Given the description of an element on the screen output the (x, y) to click on. 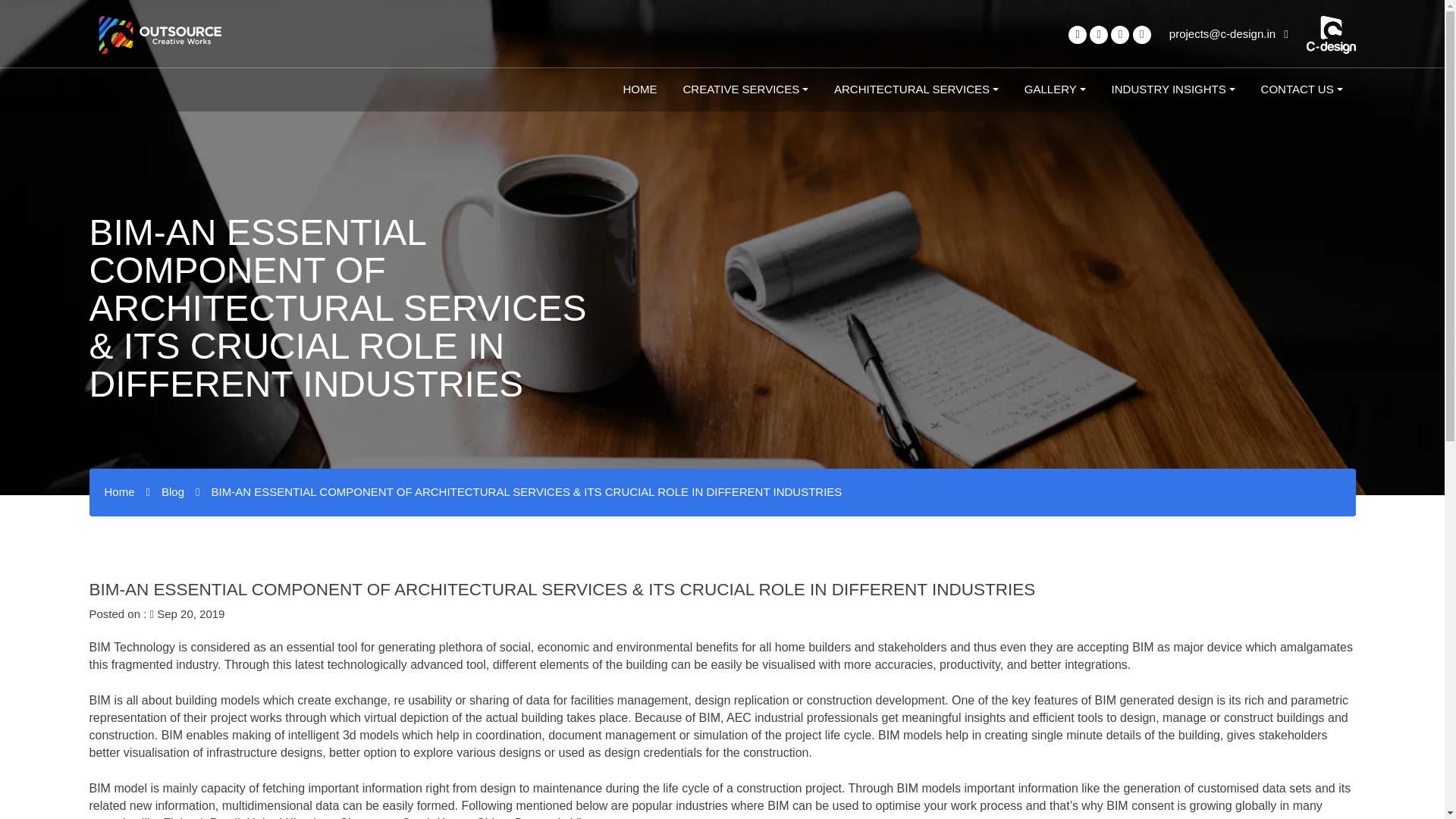
HOME (639, 90)
CREATIVE SERVICES (745, 90)
ARCHITECTURAL SERVICES (916, 90)
GALLERY (1055, 90)
